Given the description of an element on the screen output the (x, y) to click on. 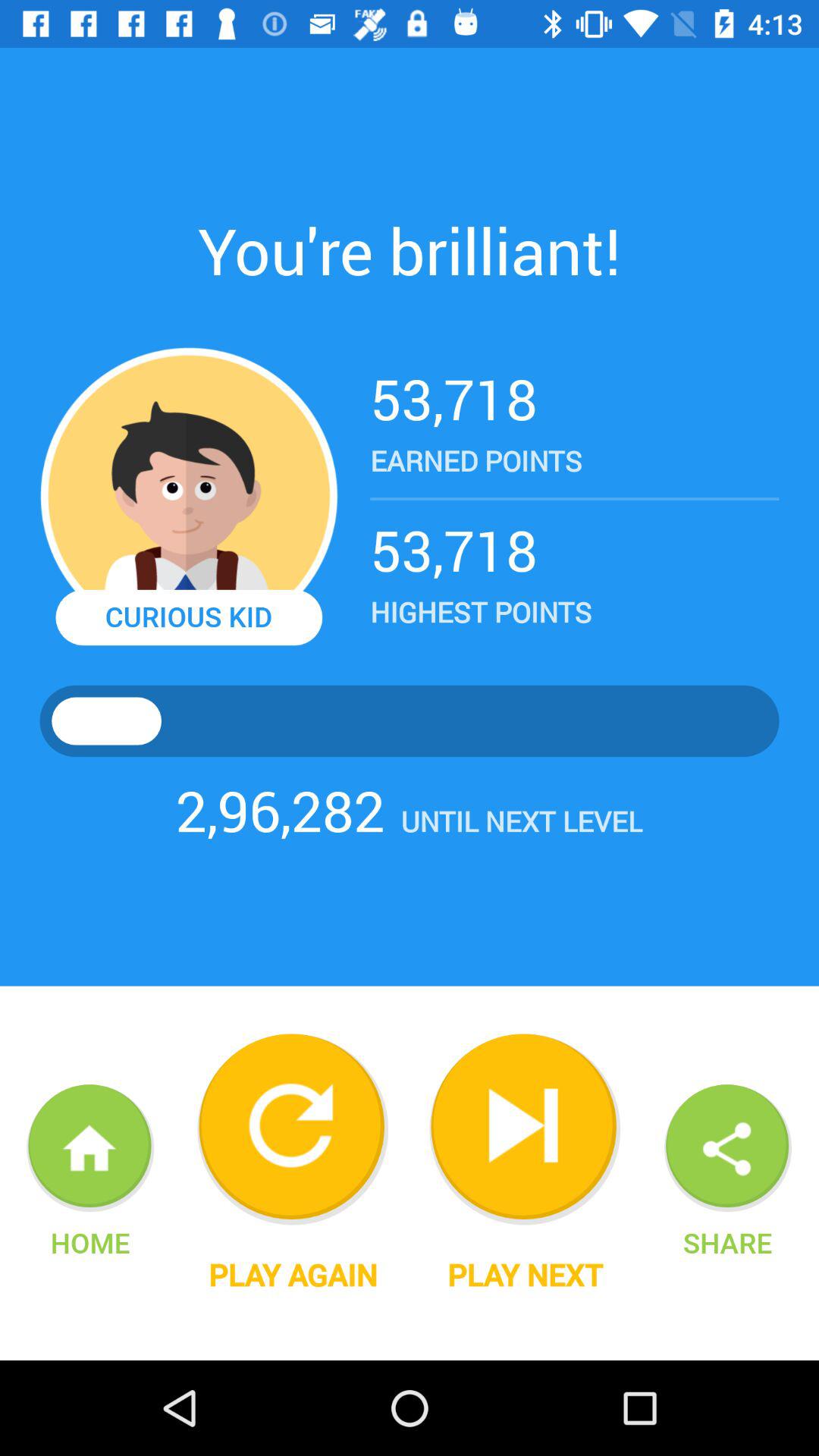
open the play next (524, 1274)
